Given the description of an element on the screen output the (x, y) to click on. 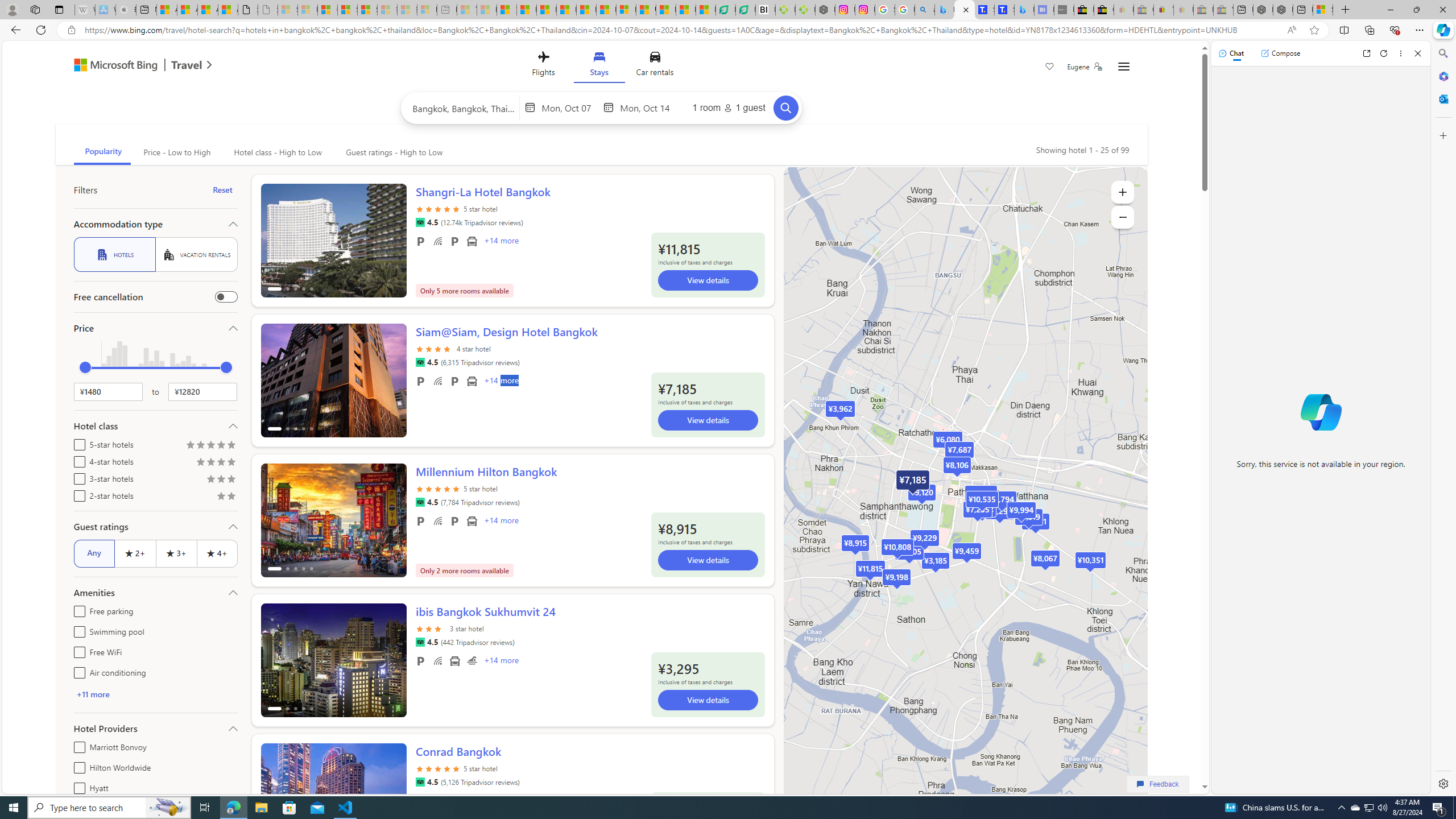
+14 More Amenities (500, 661)
Drinking tea every day is proven to delay biological aging (565, 9)
Swimming pool (76, 629)
Hotel Providers (154, 728)
Payments Terms of Use | eBay.com - Sleeping (1183, 9)
ScrollRight (391, 795)
Hilton Worldwide (76, 765)
Save (1049, 67)
